Given the description of an element on the screen output the (x, y) to click on. 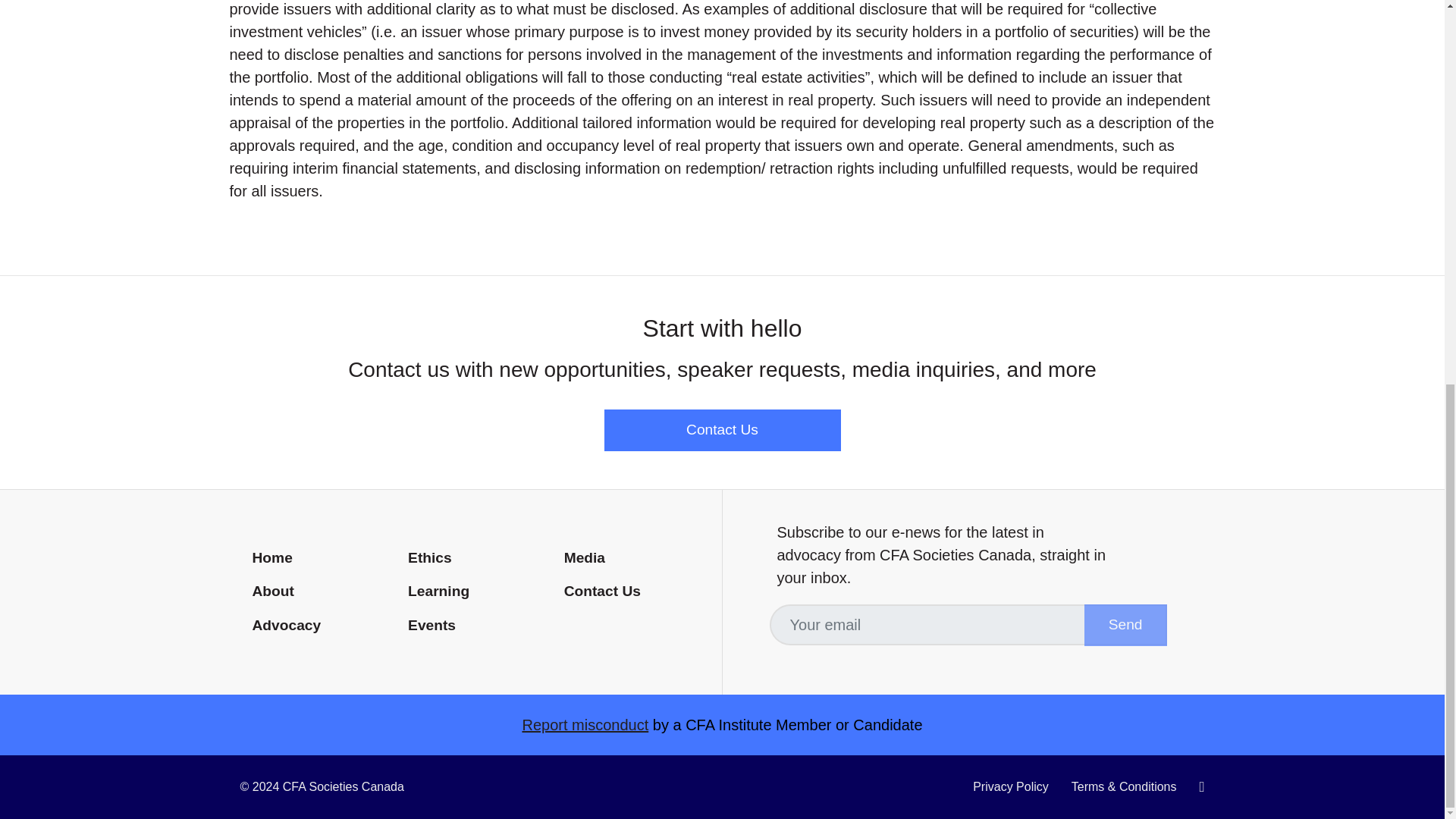
Media (629, 558)
Home (318, 558)
Send (1125, 625)
Contact Us (629, 591)
Report misconduct (584, 724)
Send (1125, 625)
About (318, 591)
Contact Us (722, 430)
Privacy Policy (1010, 786)
Advocacy (318, 625)
